Given the description of an element on the screen output the (x, y) to click on. 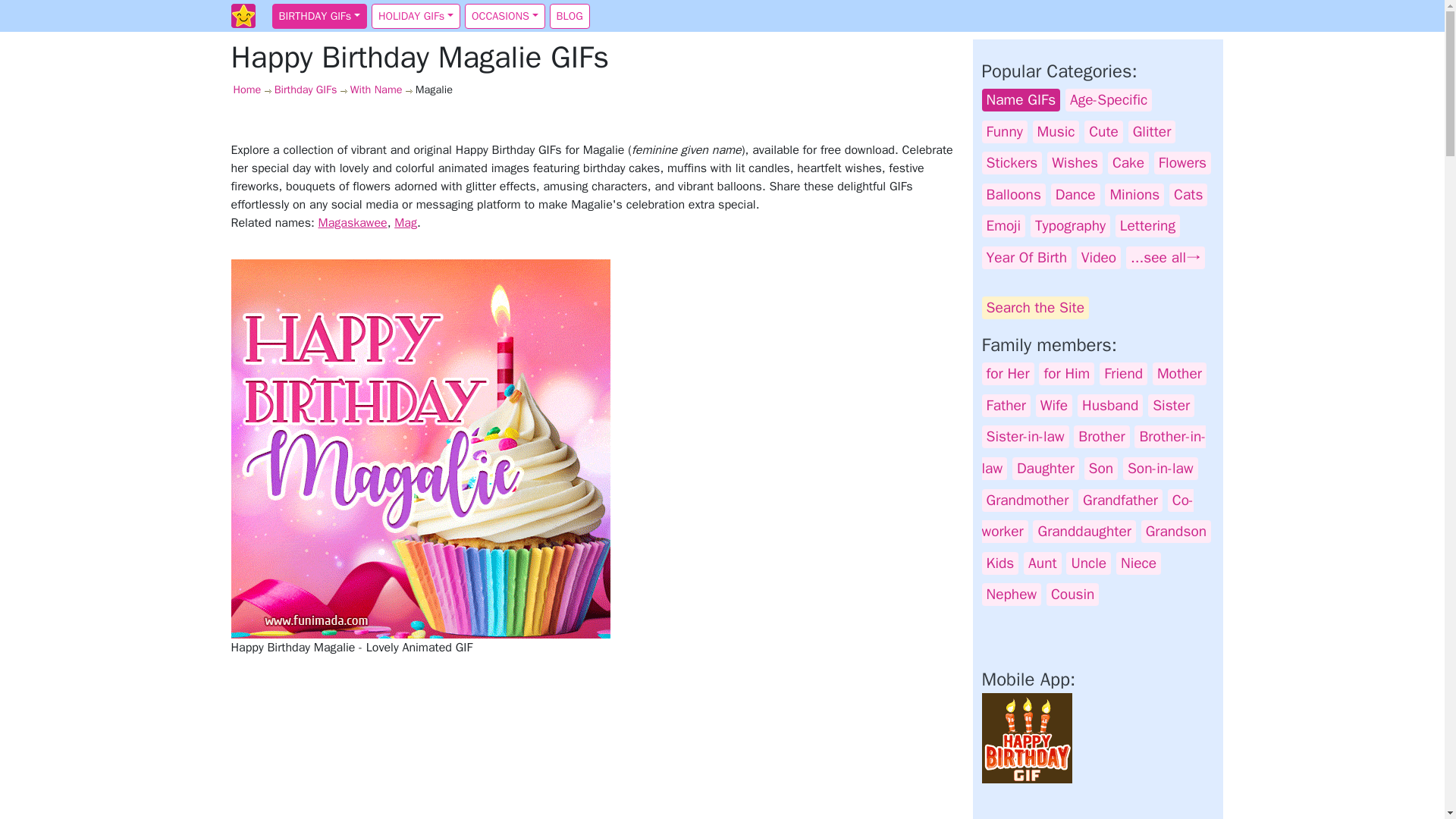
HOLIDAY GIFs (415, 16)
Advertisement (596, 745)
OCCASIONS (504, 16)
BIRTHDAY GIFs (318, 16)
